Given the description of an element on the screen output the (x, y) to click on. 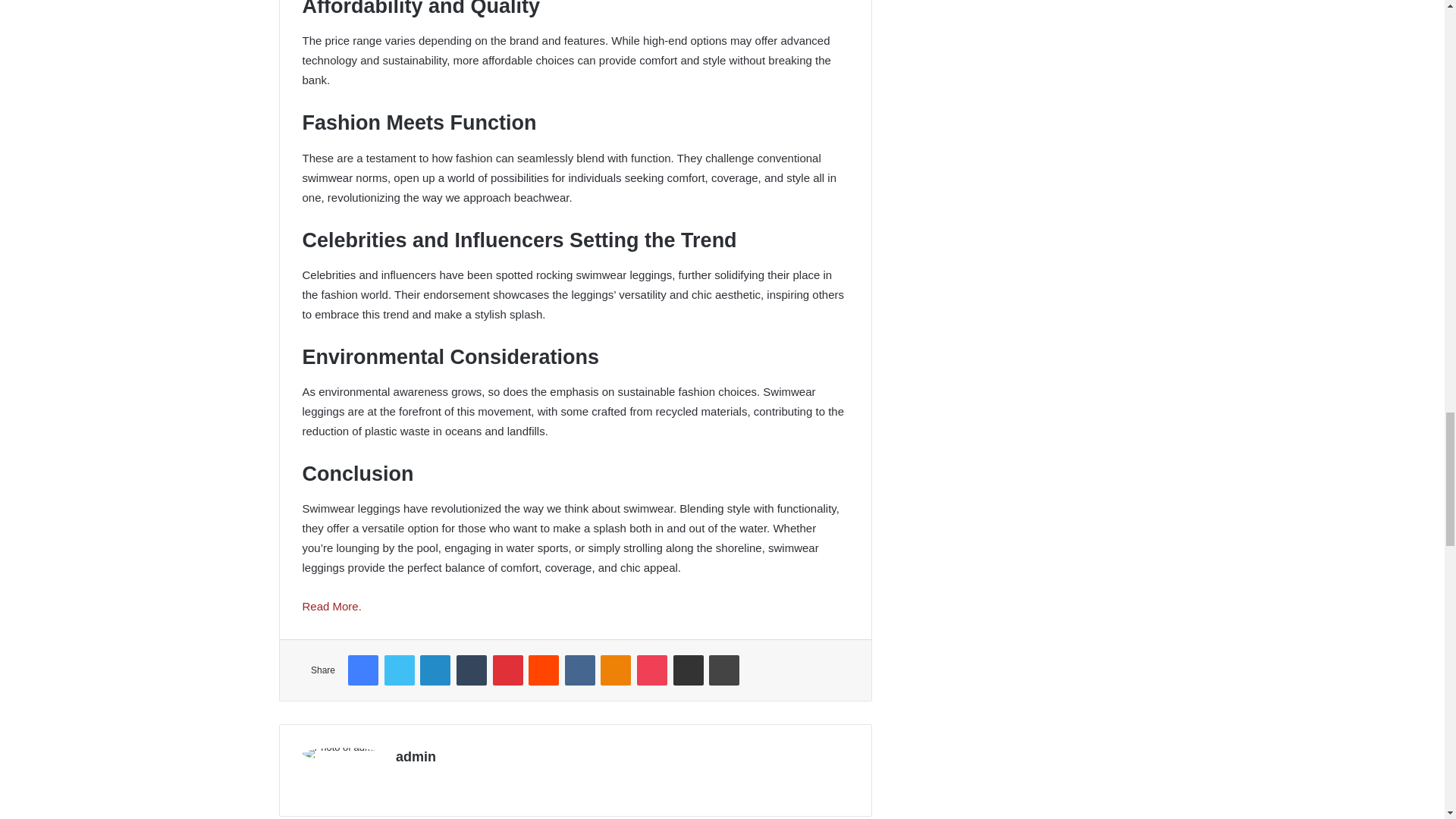
Read More. (331, 605)
